Given the description of an element on the screen output the (x, y) to click on. 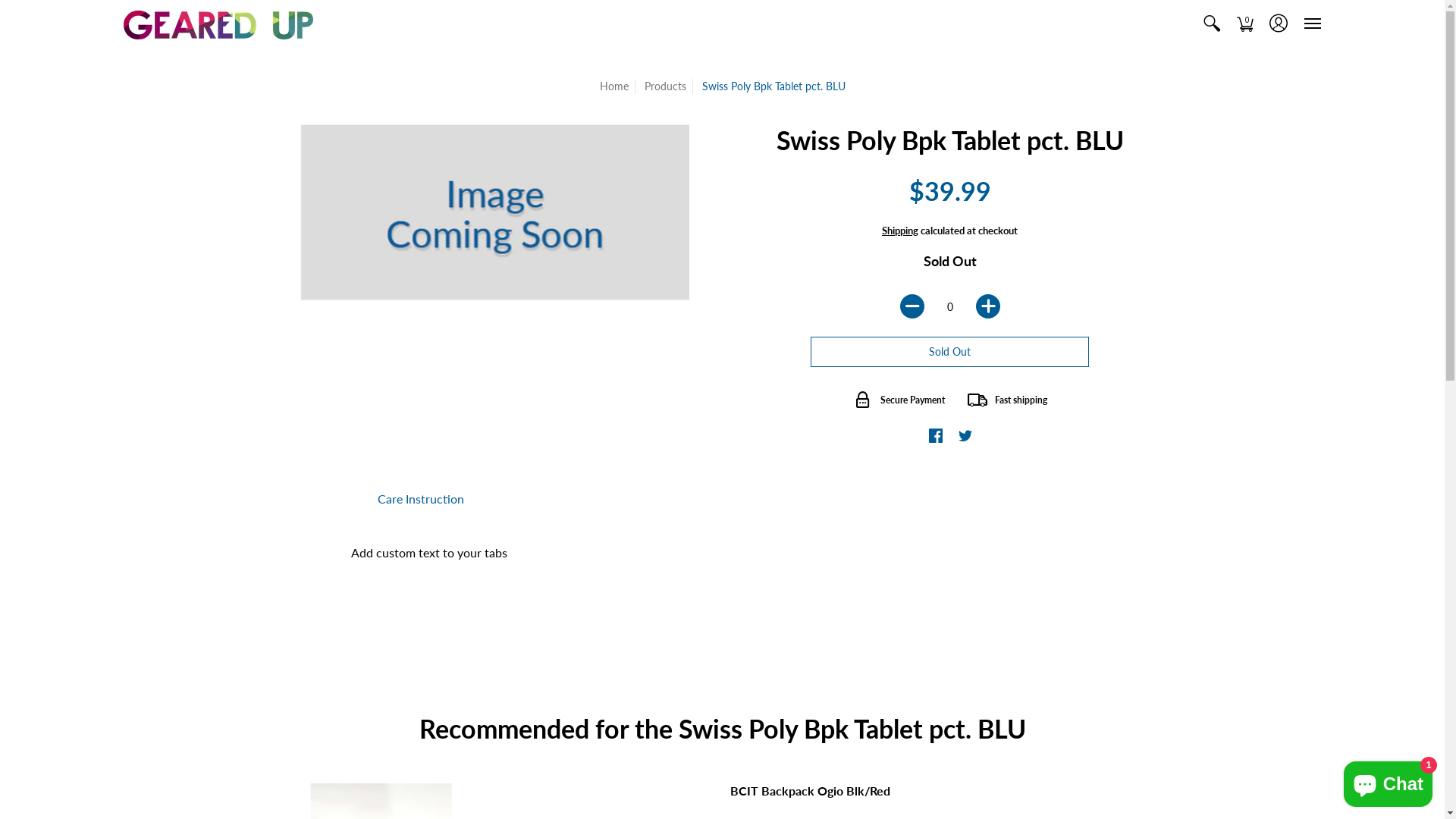
Home Element type: text (613, 85)
BCITSA Geared Up Element type: hover (217, 23)
Sold Out Element type: text (949, 351)
Care Instruction Element type: text (420, 498)
Log in Element type: hover (1278, 23)
Shipping Element type: text (899, 230)
0 Element type: text (1244, 23)
BCIT Backpack Ogio Blk/Red Element type: text (809, 790)
Products Element type: text (665, 85)
Shopify online store chat Element type: hover (1388, 780)
Search Element type: hover (1211, 23)
